Given the description of an element on the screen output the (x, y) to click on. 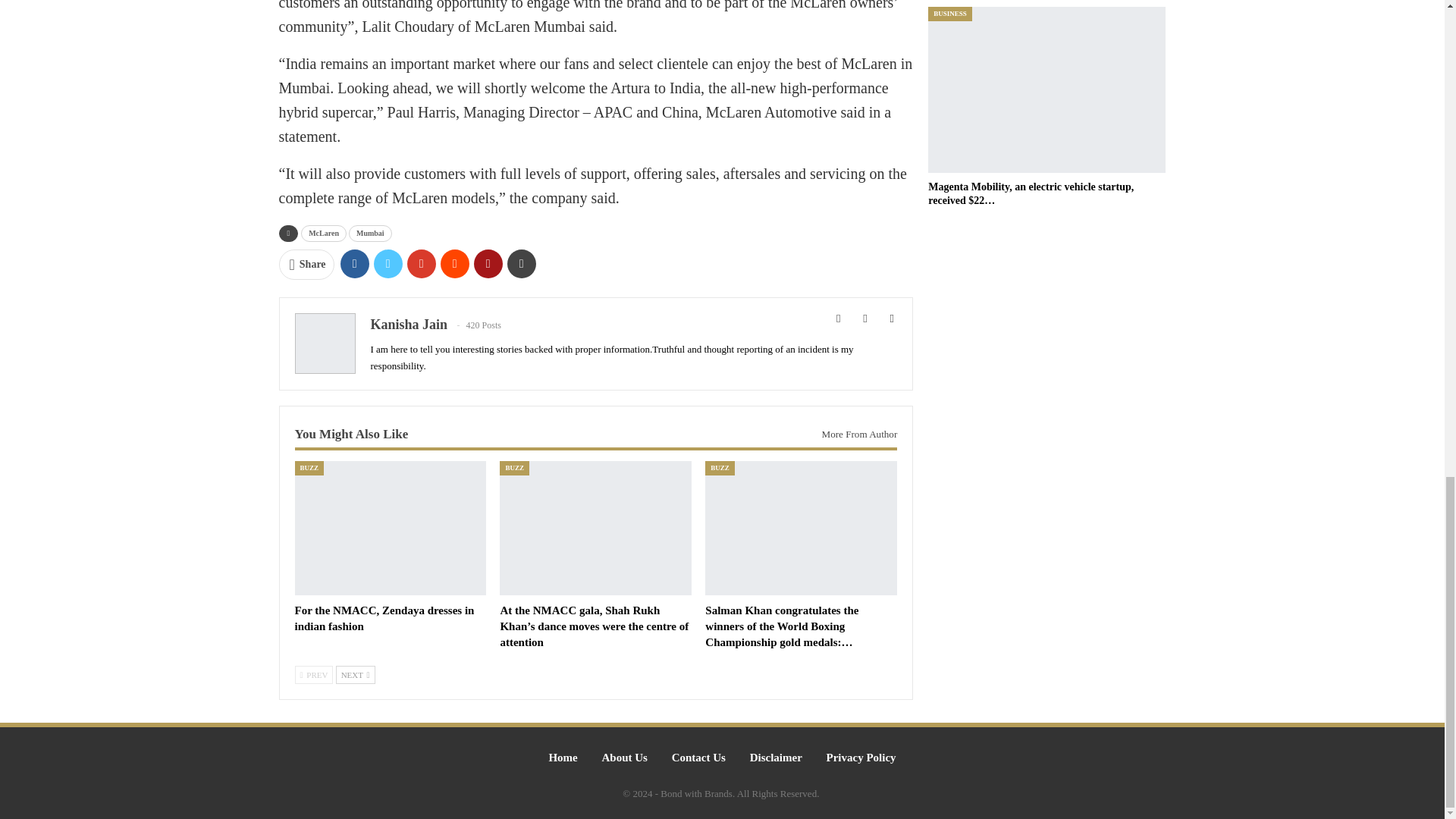
For the NMACC, Zendaya dresses in indian fashion (384, 618)
Previous (313, 674)
For the NMACC, Zendaya dresses in indian fashion (390, 528)
